Given the description of an element on the screen output the (x, y) to click on. 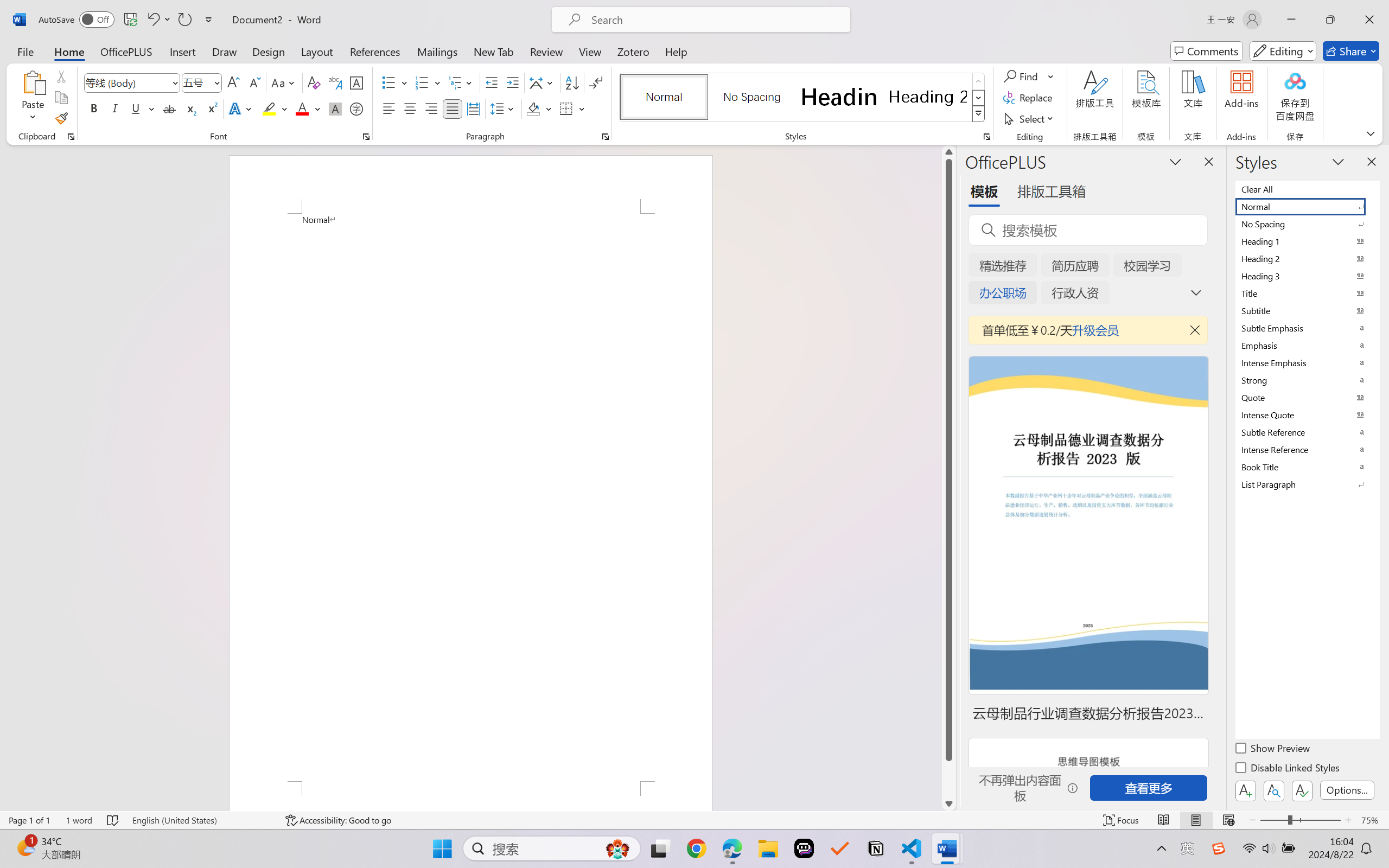
Focus  (1121, 819)
Task Pane Options (1175, 161)
Borders (571, 108)
Increase Indent (512, 82)
Bold (94, 108)
Heading 3 (1306, 275)
Customize Quick Access Toolbar (208, 19)
Draw (224, 51)
Options... (1346, 789)
Page down (948, 778)
Bullets (395, 82)
Web Layout (1228, 819)
Subtle Reference (1306, 431)
Sort... (571, 82)
